Given the description of an element on the screen output the (x, y) to click on. 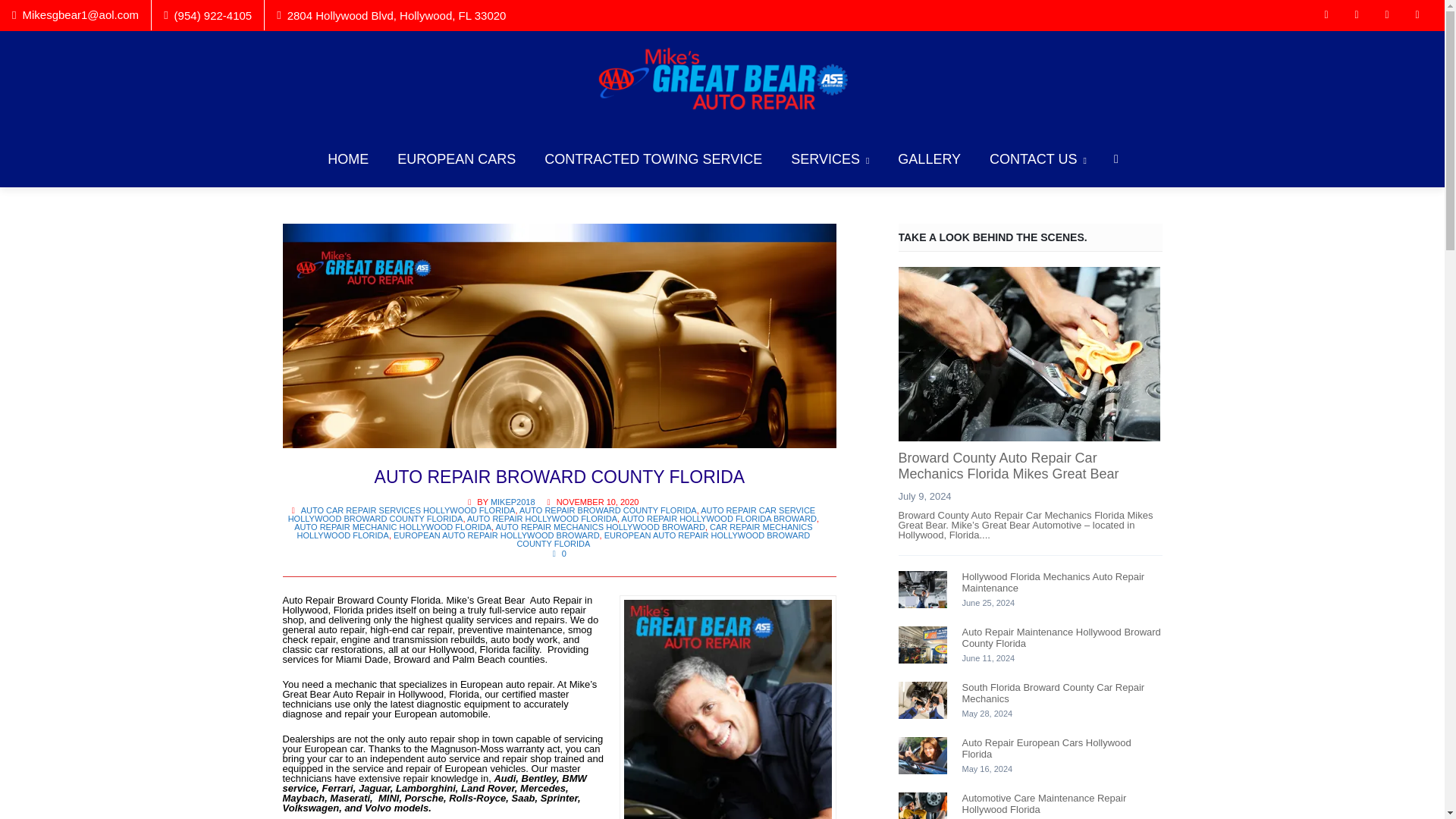
SERVICES (829, 159)
View all posts in Auto Repair Broward County Florida (608, 510)
GALLERY (929, 159)
CONTRACTED TOWING SERVICE (652, 159)
Posts by MikeP2018 (512, 501)
EUROPEAN CARS (455, 159)
HOME (347, 159)
View all posts in Auto Car Repair Services Hollywood Florida (408, 510)
CONTACT US (1037, 159)
Mike's Great Bear (722, 80)
